Given the description of an element on the screen output the (x, y) to click on. 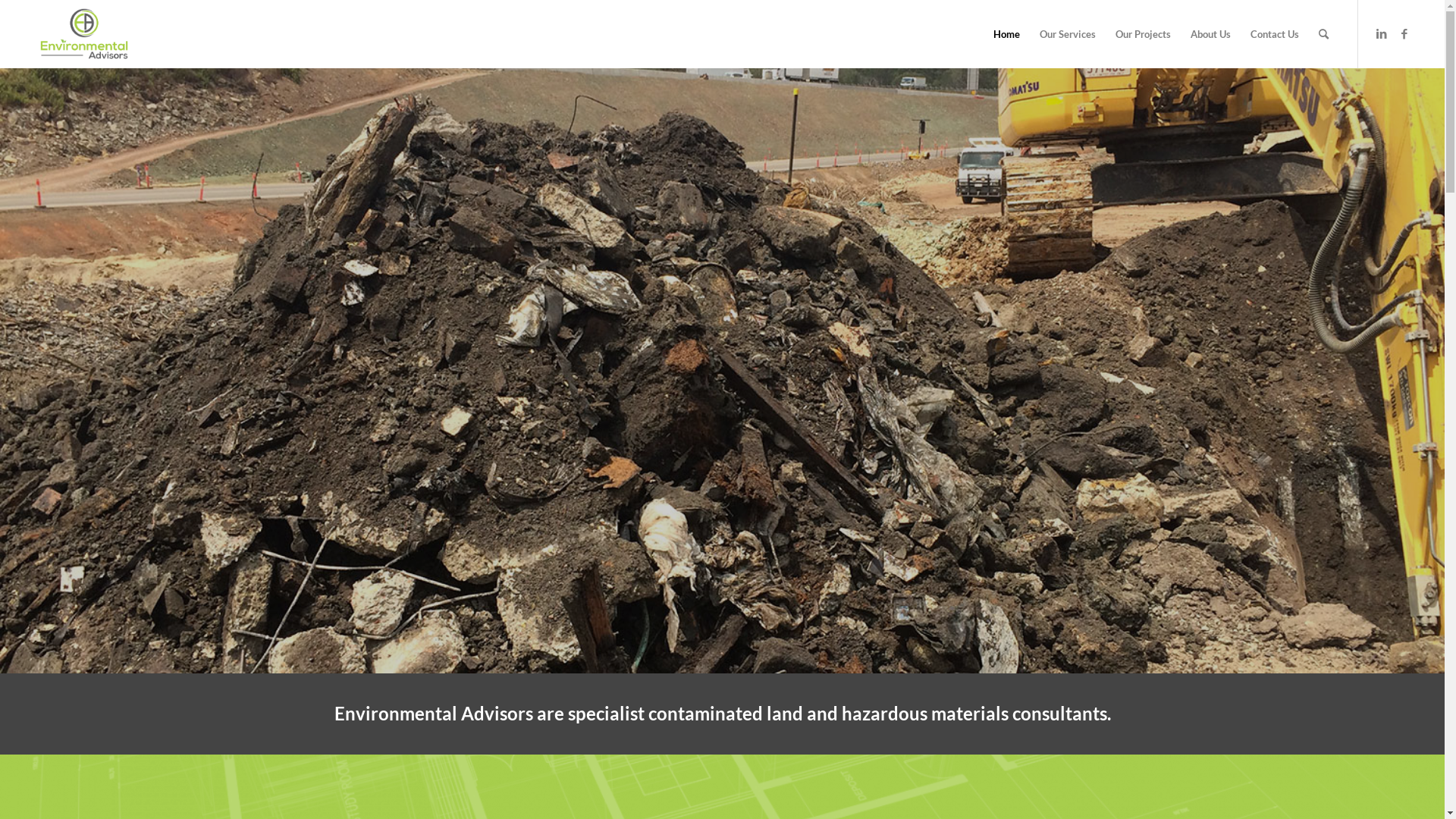
LinkedIn Element type: hover (1381, 32)
Facebook Element type: hover (1404, 32)
Home Element type: text (1006, 34)
Our Services Element type: text (1067, 34)
Contact Us Element type: text (1274, 34)
Environmental-Assessment Element type: hover (722, 369)
Our Projects Element type: text (1142, 34)
About Us Element type: text (1210, 34)
CLICK HERE Element type: text (303, 427)
